Given the description of an element on the screen output the (x, y) to click on. 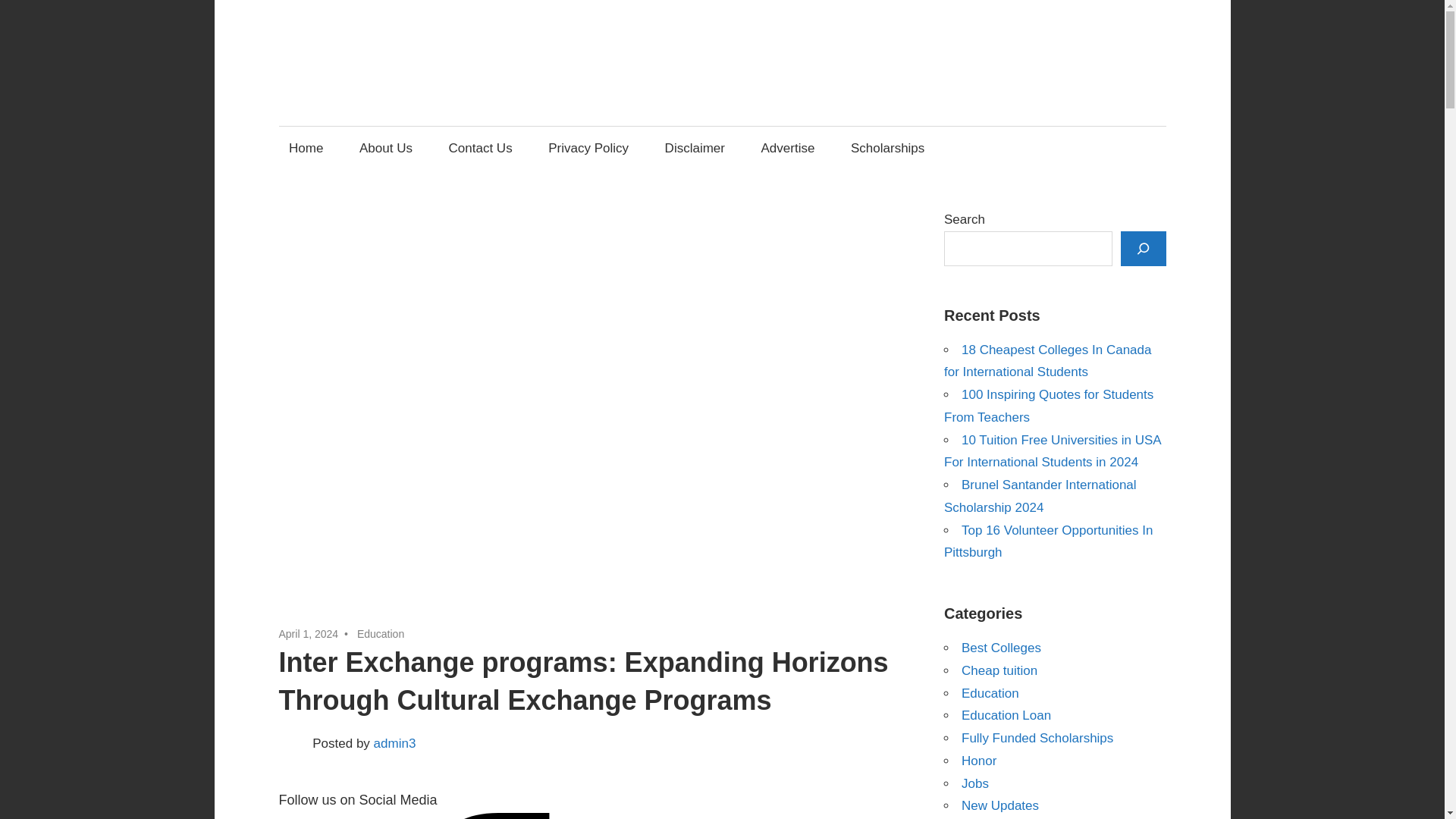
Education (380, 633)
Home (306, 148)
admin3 (395, 743)
9:55 am (309, 633)
April 1, 2024 (309, 633)
Scholarships (887, 148)
About Us (385, 148)
Contact Us (480, 148)
View all posts by admin3 (395, 743)
Privacy Policy (588, 148)
Advertise (788, 148)
Disclaimer (694, 148)
